Given the description of an element on the screen output the (x, y) to click on. 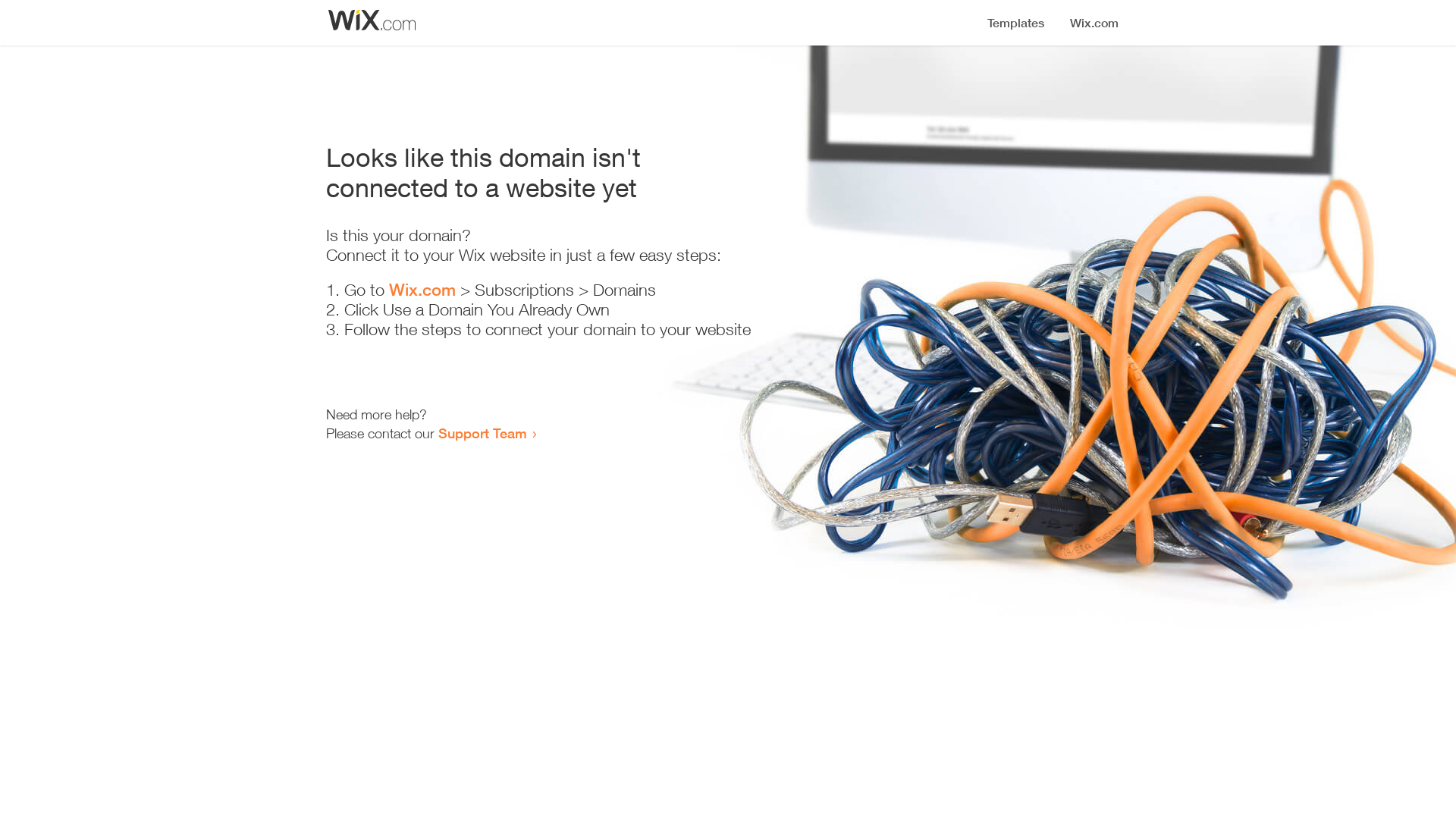
Support Team Element type: text (482, 432)
Wix.com Element type: text (422, 289)
